Given the description of an element on the screen output the (x, y) to click on. 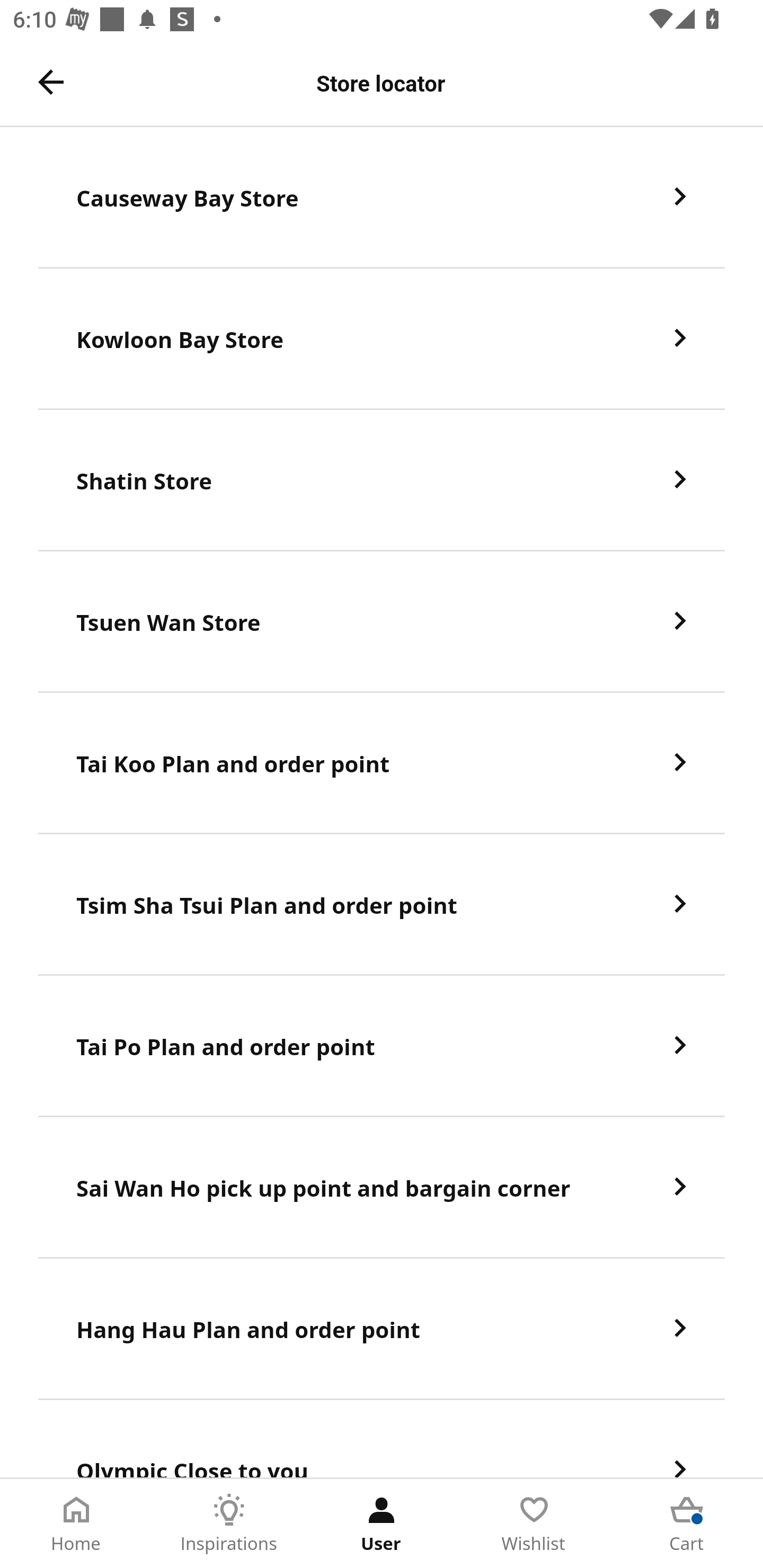
Causeway Bay Store (381, 197)
Kowloon Bay Store (381, 338)
Shatin Store (381, 480)
Tsuen Wan Store (381, 622)
Tai Koo Plan and order point (381, 763)
Tsim Sha Tsui Plan and order point (381, 904)
Tai Po Plan and order point (381, 1045)
Sai Wan Ho pick up point and bargain corner (381, 1187)
Hang Hau Plan and order point (381, 1329)
Olympic Close to you (381, 1438)
Home
Tab 1 of 5 (76, 1522)
Inspirations
Tab 2 of 5 (228, 1522)
User
Tab 3 of 5 (381, 1522)
Wishlist
Tab 4 of 5 (533, 1522)
Cart
Tab 5 of 5 (686, 1522)
